Given the description of an element on the screen output the (x, y) to click on. 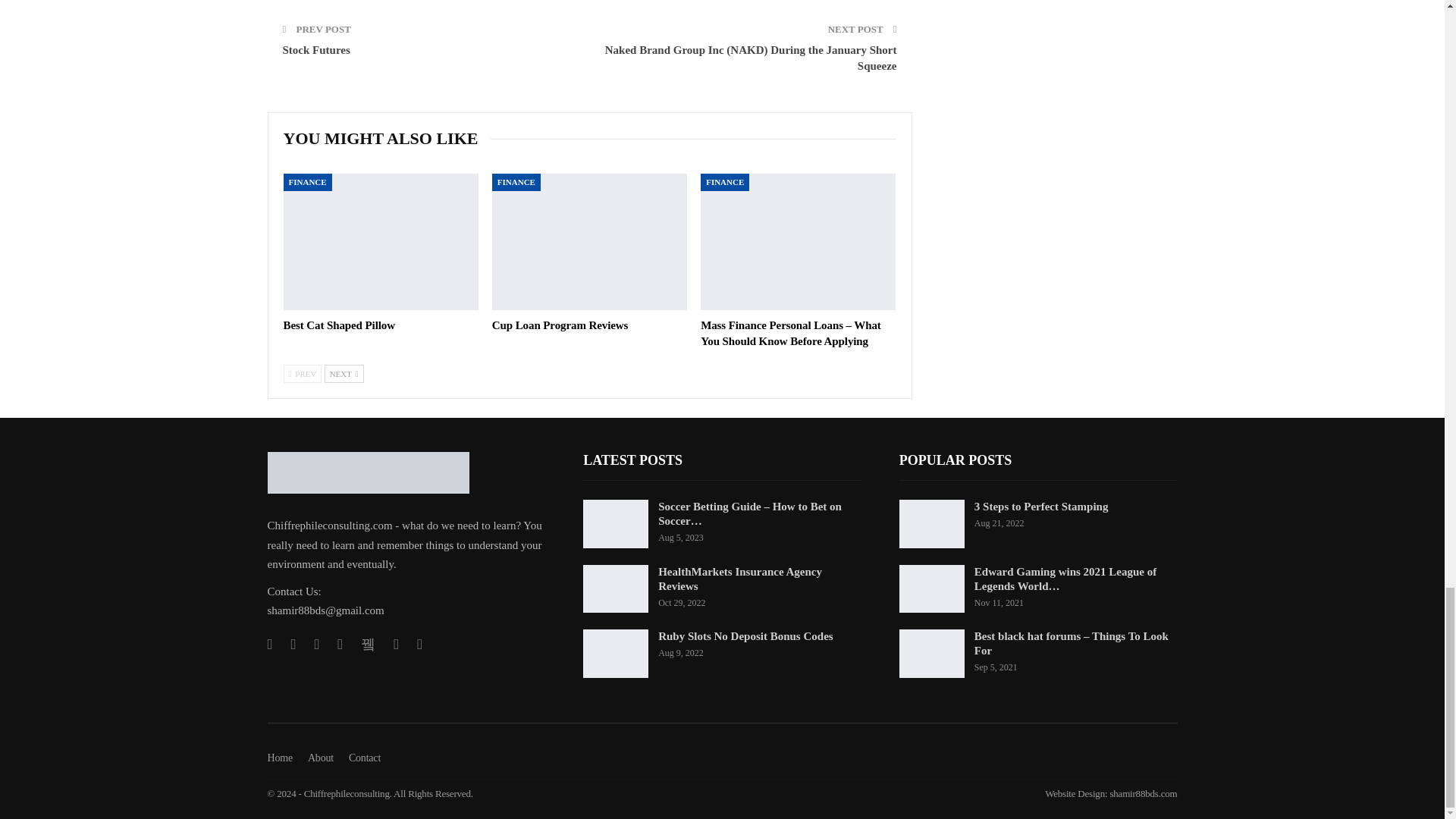
Best Cat Shaped Pillow (338, 325)
Cup Loan Program Reviews (589, 241)
Cup Loan Program Reviews (559, 325)
Best Cat Shaped Pillow (381, 241)
